Given the description of an element on the screen output the (x, y) to click on. 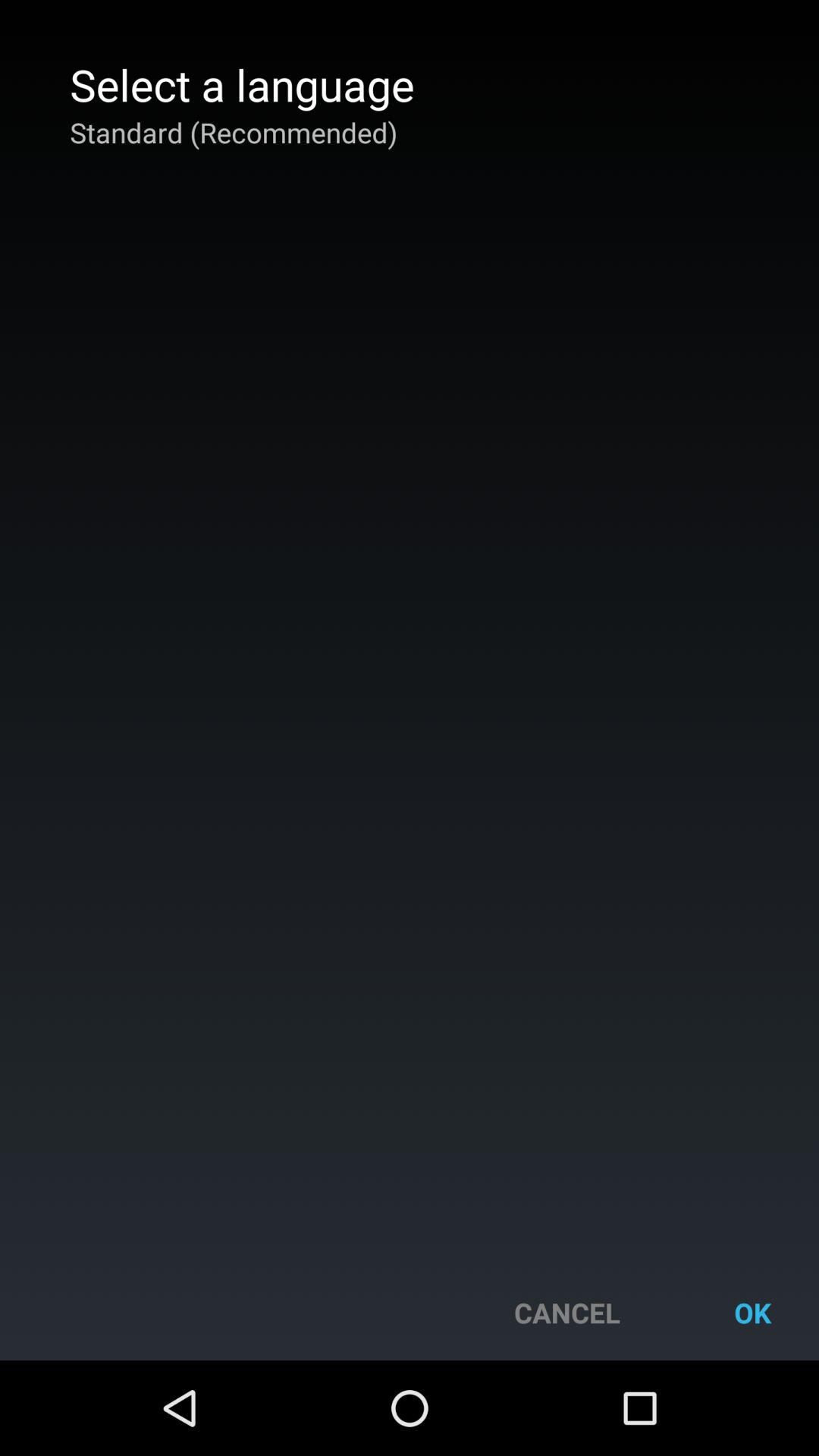
click the select a language item (241, 84)
